Given the description of an element on the screen output the (x, y) to click on. 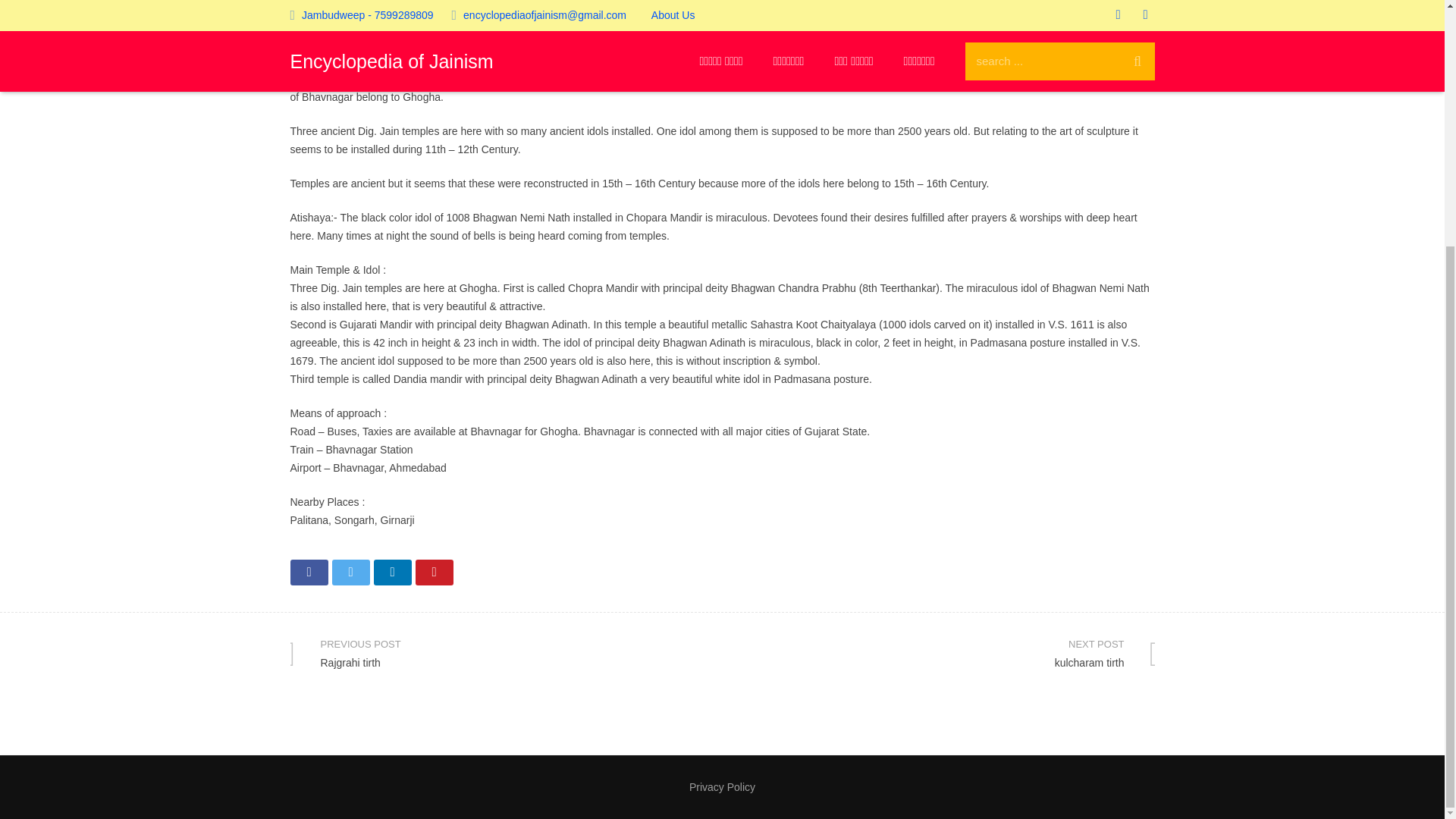
Tweet this (938, 653)
Share this (505, 653)
Privacy Policy (350, 572)
Pin this (308, 572)
Share this (721, 787)
